Given the description of an element on the screen output the (x, y) to click on. 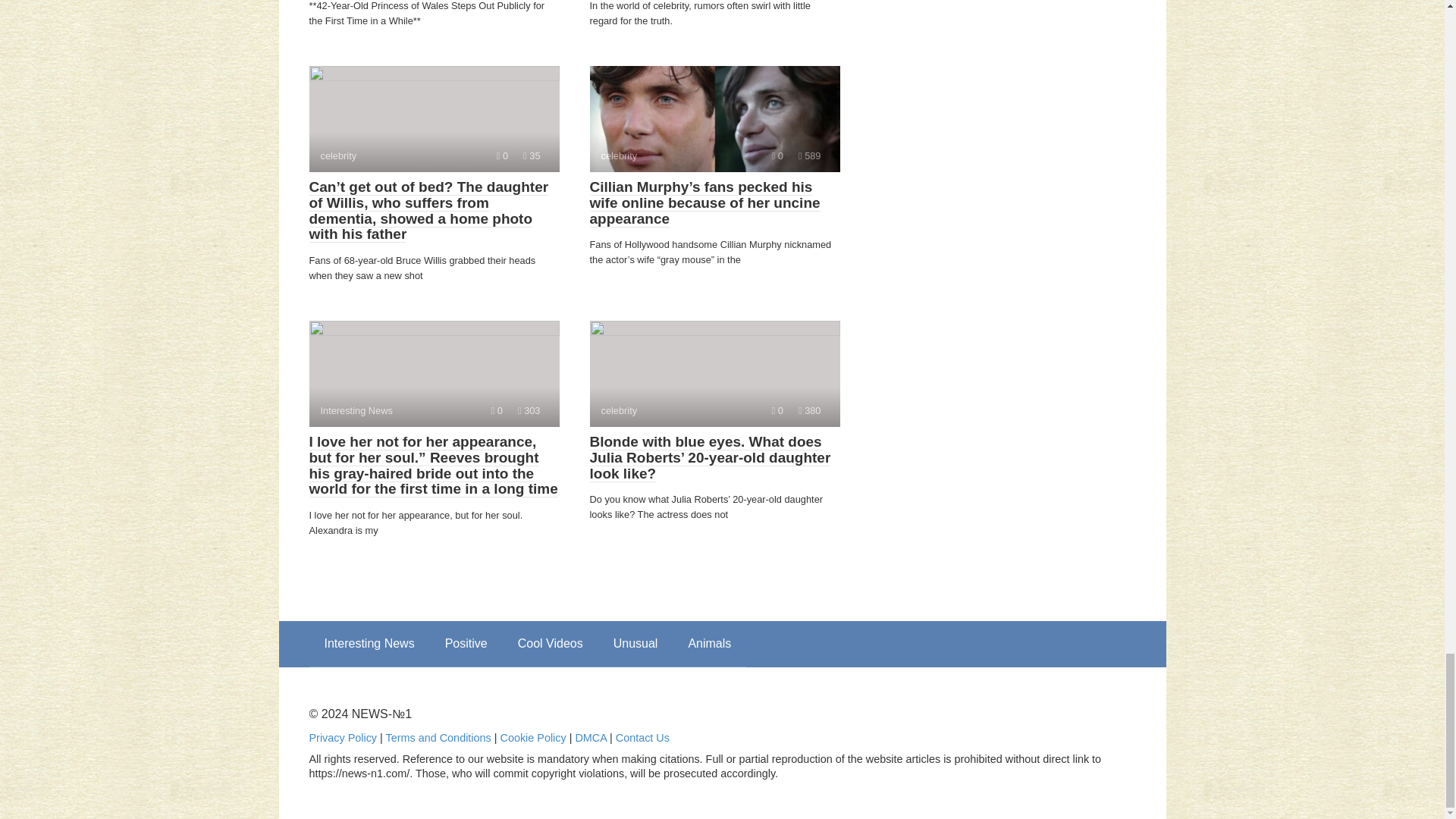
Views (809, 155)
Comments (714, 373)
Views (502, 155)
Comments (714, 118)
